Given the description of an element on the screen output the (x, y) to click on. 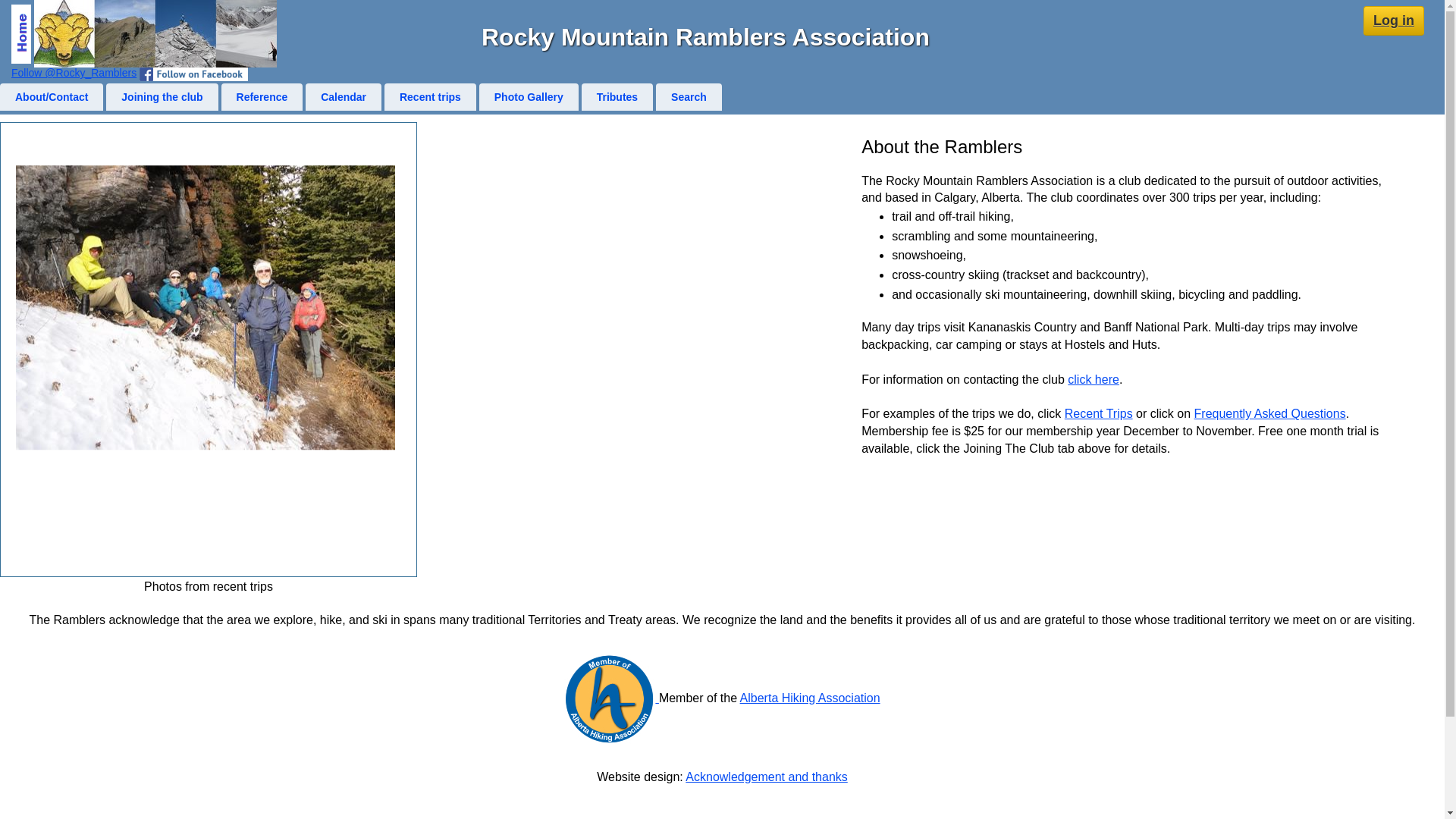
Home page Element type: hover (21, 33)
Home page Element type: hover (155, 33)
Photo Gallery Element type: text (528, 96)
Log in Element type: text (1393, 21)
Recent Trips Element type: text (1098, 413)
Alberta Hiking Association Element type: text (810, 697)
Follow @Rocky_Ramblers Element type: text (73, 72)
Calendar Element type: text (343, 96)
Recent trips Element type: text (430, 96)
Frequently Asked Questions Element type: text (1270, 413)
Reference Element type: text (262, 96)
Tributes Element type: text (616, 96)
Acknowledgement and thanks Element type: text (766, 776)
About/Contact Element type: text (51, 96)
Joining the club Element type: text (161, 96)
Search Element type: text (688, 96)
click here Element type: text (1093, 379)
